Given the description of an element on the screen output the (x, y) to click on. 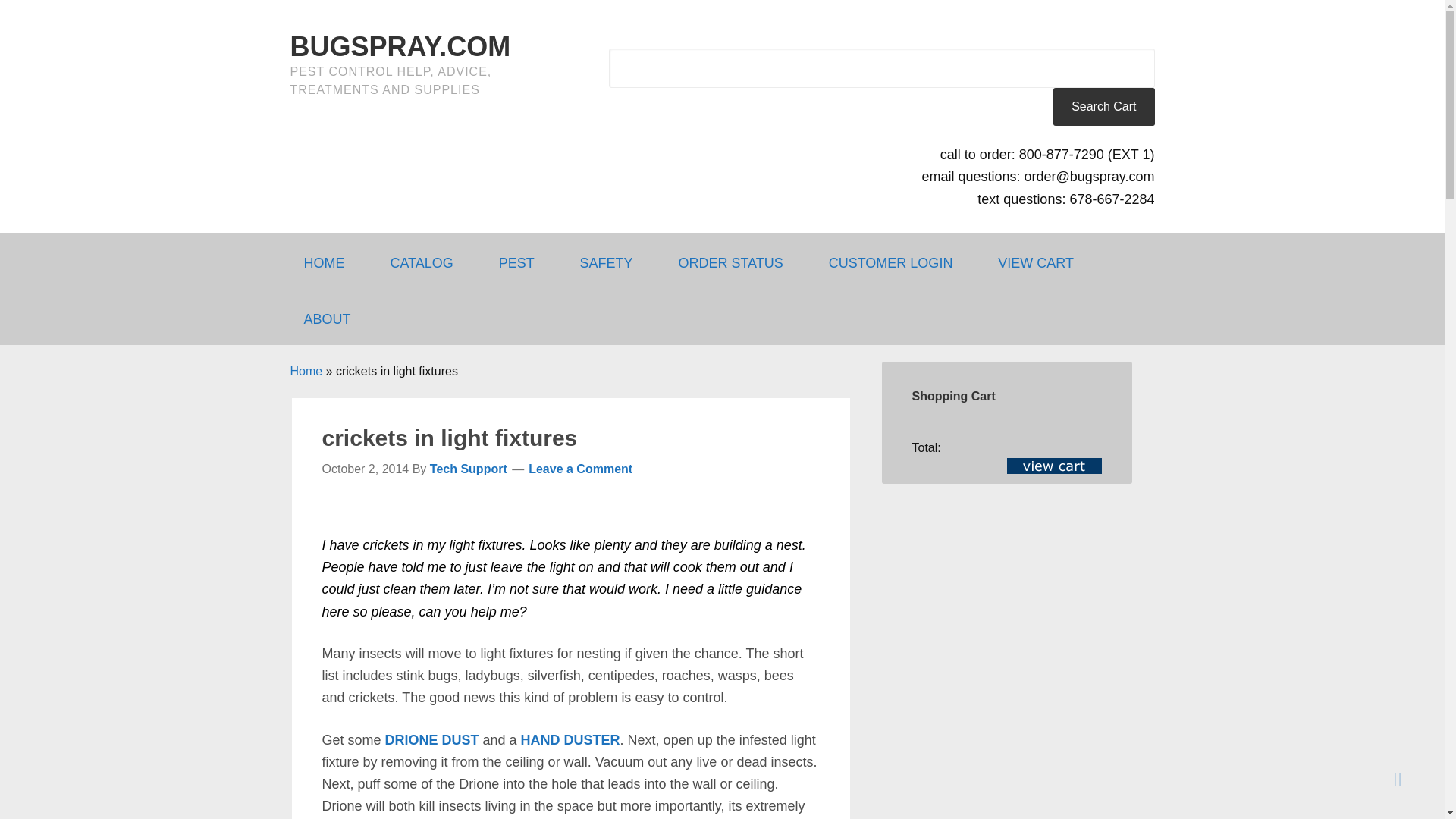
HOME (330, 260)
Search Cart (1103, 106)
BUGSPRAY.COM (400, 46)
CATALOG (428, 260)
Search Cart (1103, 106)
